Given the description of an element on the screen output the (x, y) to click on. 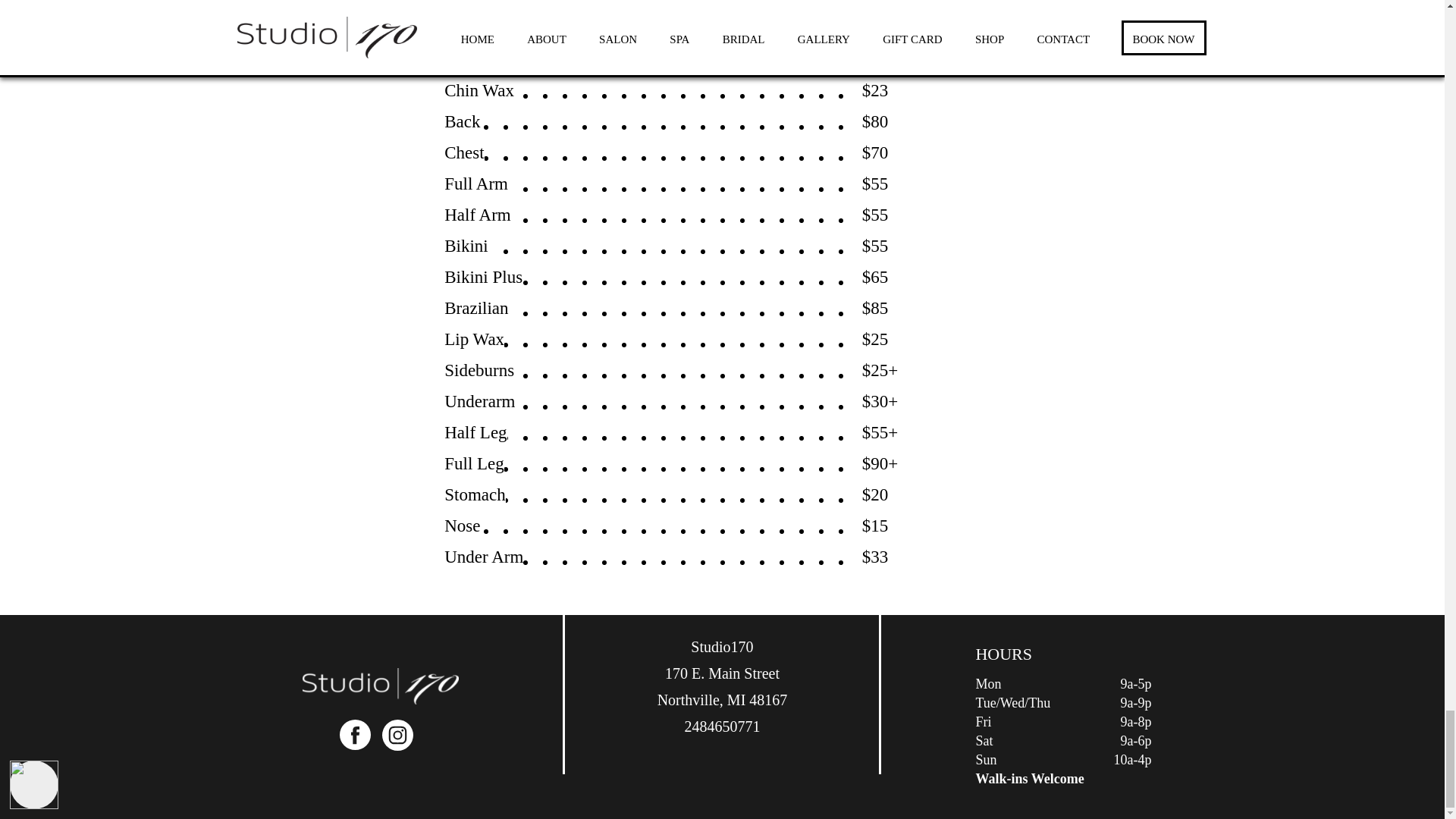
2484650771 (722, 726)
